Given the description of an element on the screen output the (x, y) to click on. 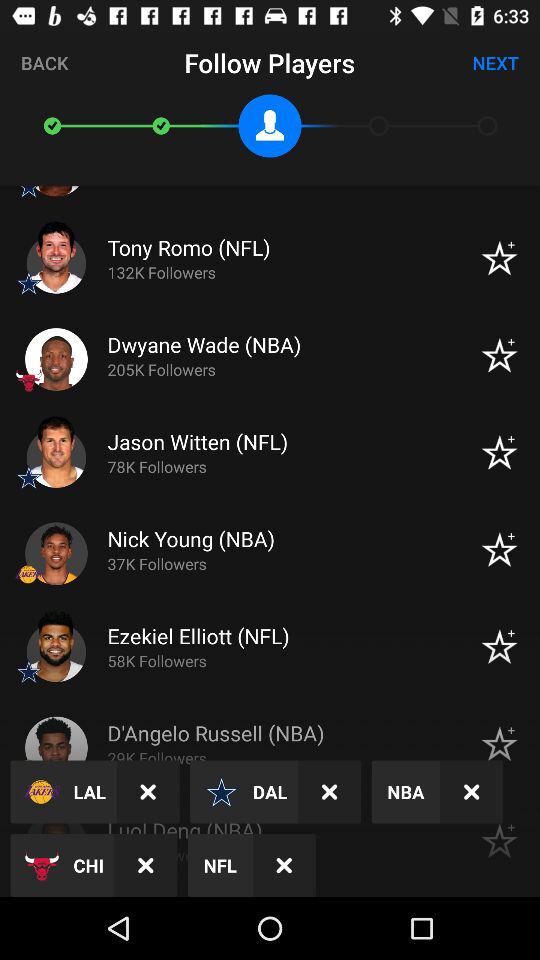
open the icon next to nfl (145, 864)
